Given the description of an element on the screen output the (x, y) to click on. 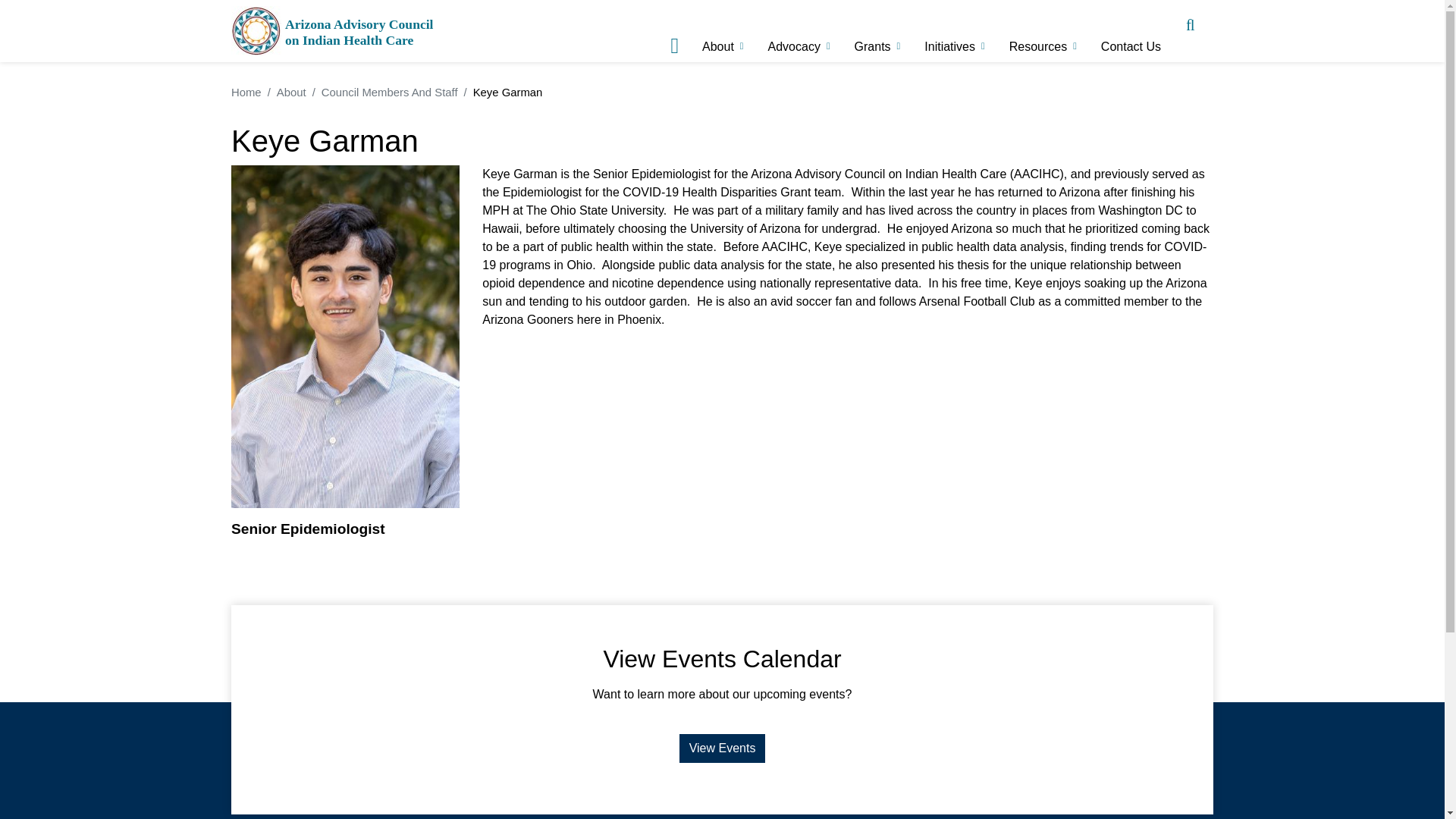
Grants (875, 46)
Advocacy (797, 46)
Initiatives (952, 46)
View Events (722, 747)
Contact Us (1133, 46)
Skip to main content (721, 1)
About (290, 92)
Arizona Advisory Council on Indian Health Care (333, 31)
Council Members And Staff (389, 92)
Home (333, 31)
